Given the description of an element on the screen output the (x, y) to click on. 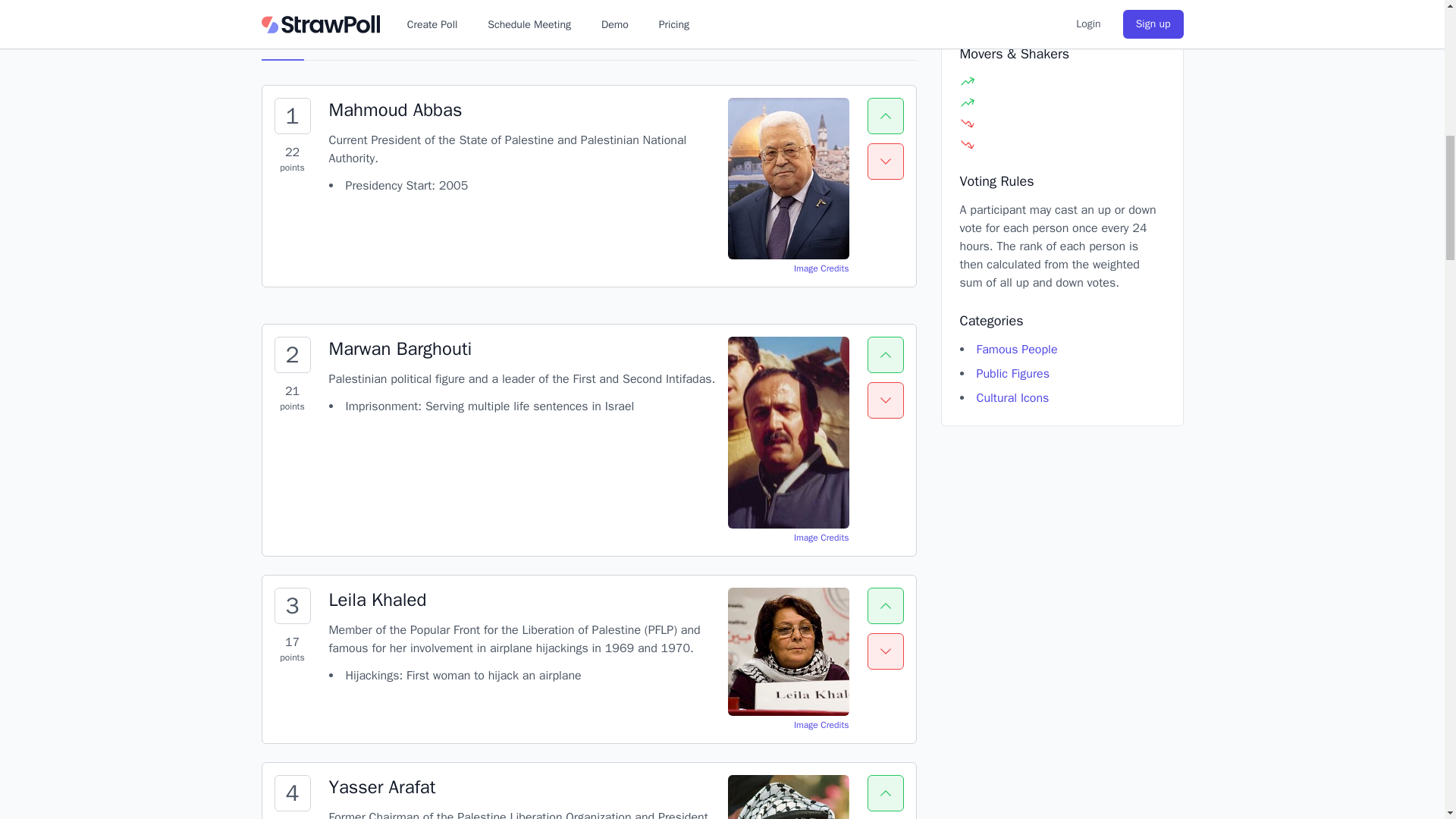
Ranking (282, 39)
Graphs (348, 39)
Image Credits (820, 268)
Advertisement (1061, 12)
Image Credits (820, 537)
